Given the description of an element on the screen output the (x, y) to click on. 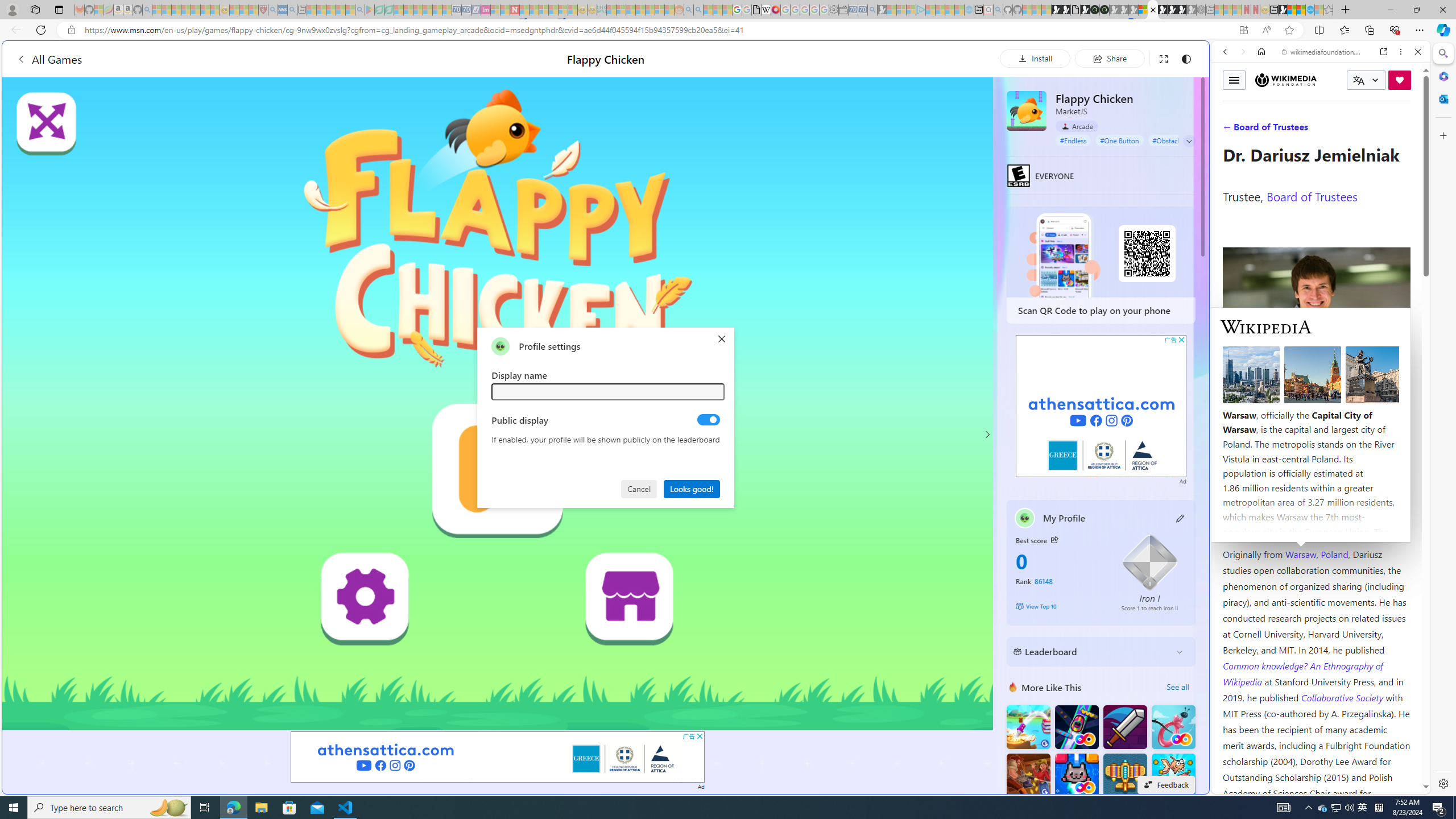
Knife Flip (1028, 726)
View Top 10 (1060, 605)
Search or enter web address (922, 108)
google_privacy_policy_zh-CN.pdf (1118, 683)
github - Search - Sleeping (997, 9)
Balloon FRVR (1173, 726)
Search Filter, WEB (1230, 129)
Flappy Chicken (1026, 110)
